Given the description of an element on the screen output the (x, y) to click on. 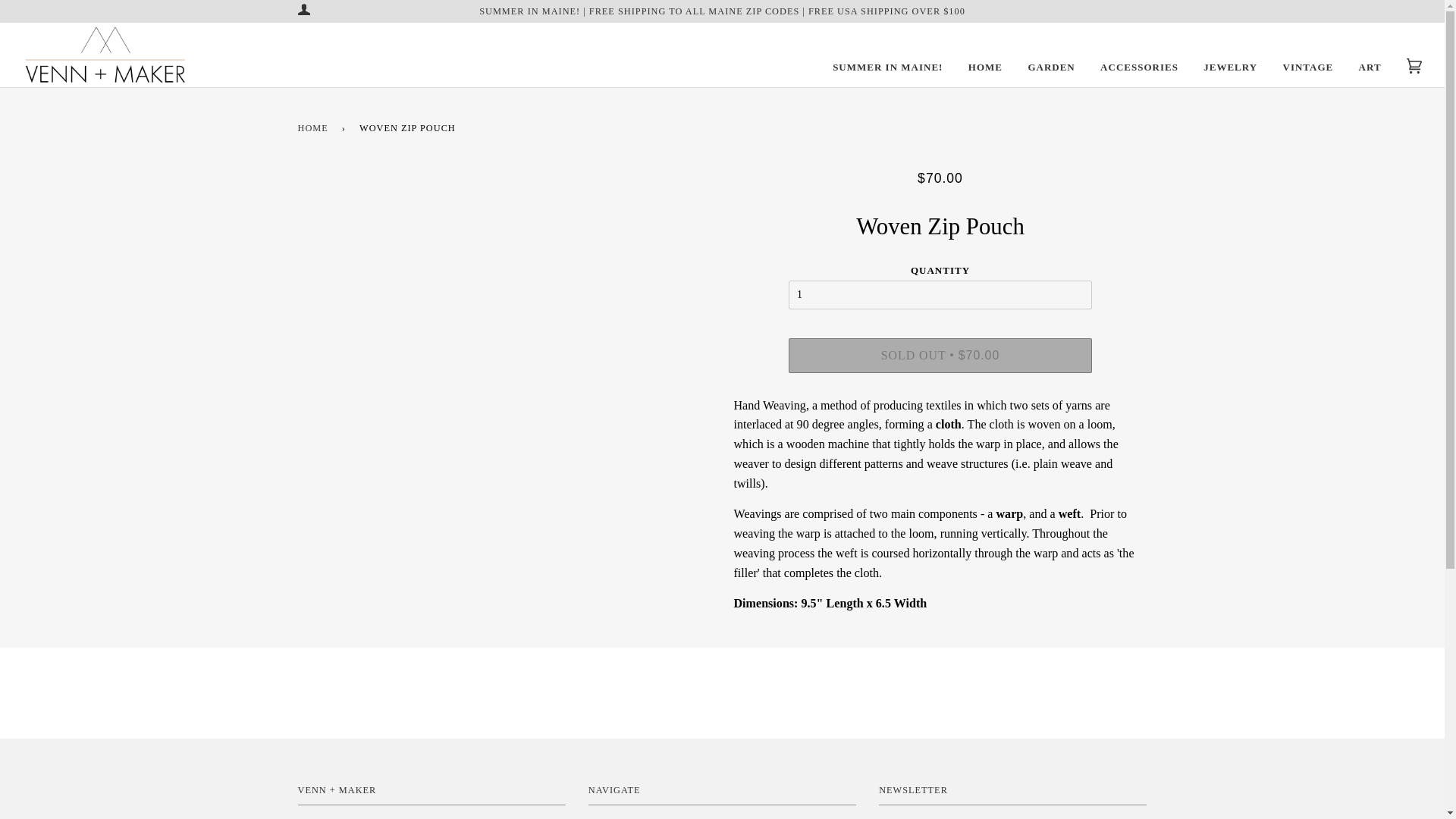
ACCESSORIES (1138, 67)
HOME (985, 67)
SUMMER IN MAINE! (887, 67)
GARDEN (1050, 67)
1 (940, 294)
Back to the frontpage (315, 128)
